Given the description of an element on the screen output the (x, y) to click on. 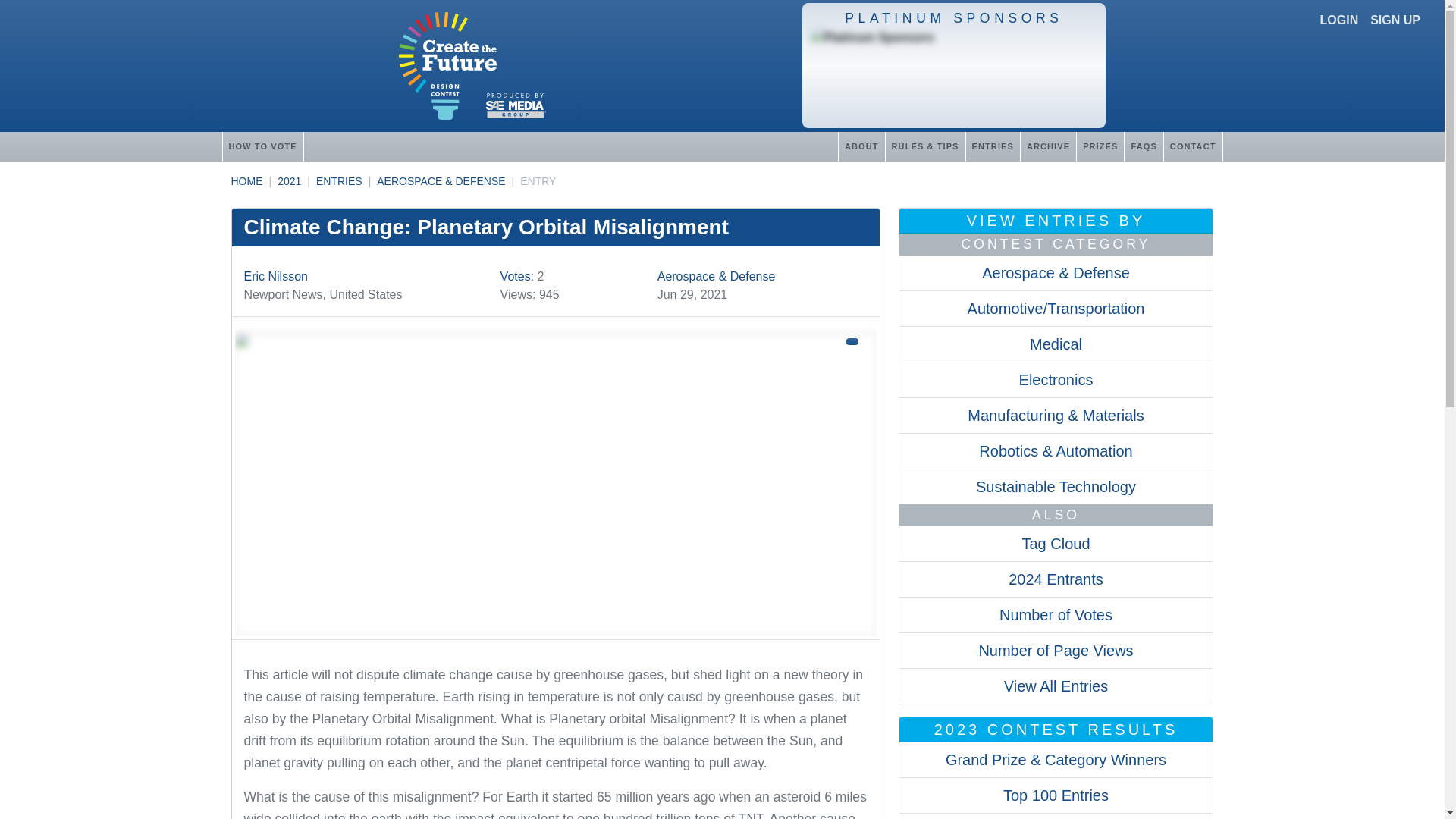
ARCHIVE (1047, 146)
Votes (515, 276)
ABOUT (861, 146)
SIGN UP (1395, 20)
FAQS (1142, 146)
HOW TO VOTE (261, 146)
CONTACT (1193, 146)
2021 (289, 181)
ENTRIES (338, 181)
PRIZES (1099, 146)
